Given the description of an element on the screen output the (x, y) to click on. 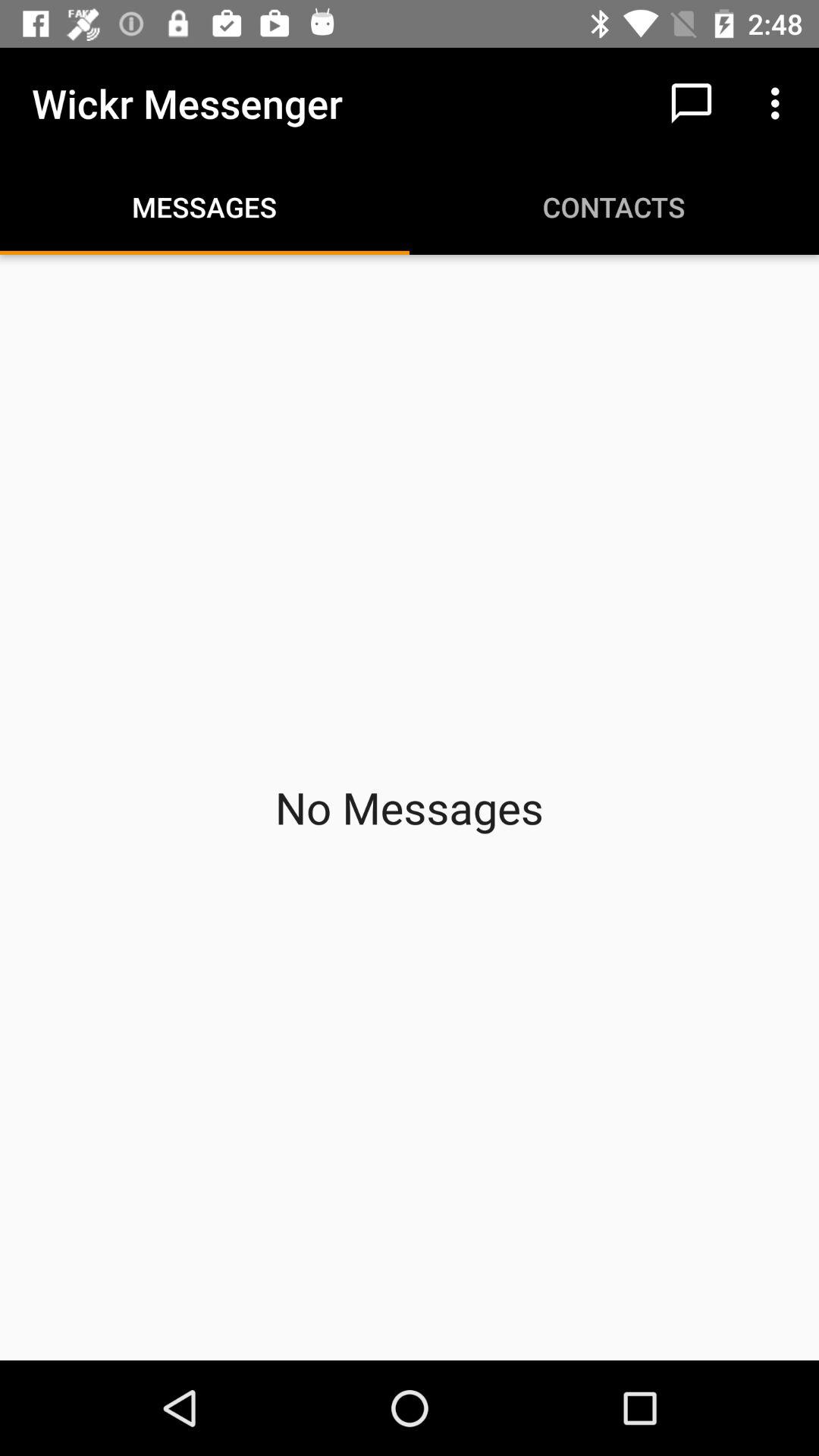
tap icon above contacts item (691, 103)
